Given the description of an element on the screen output the (x, y) to click on. 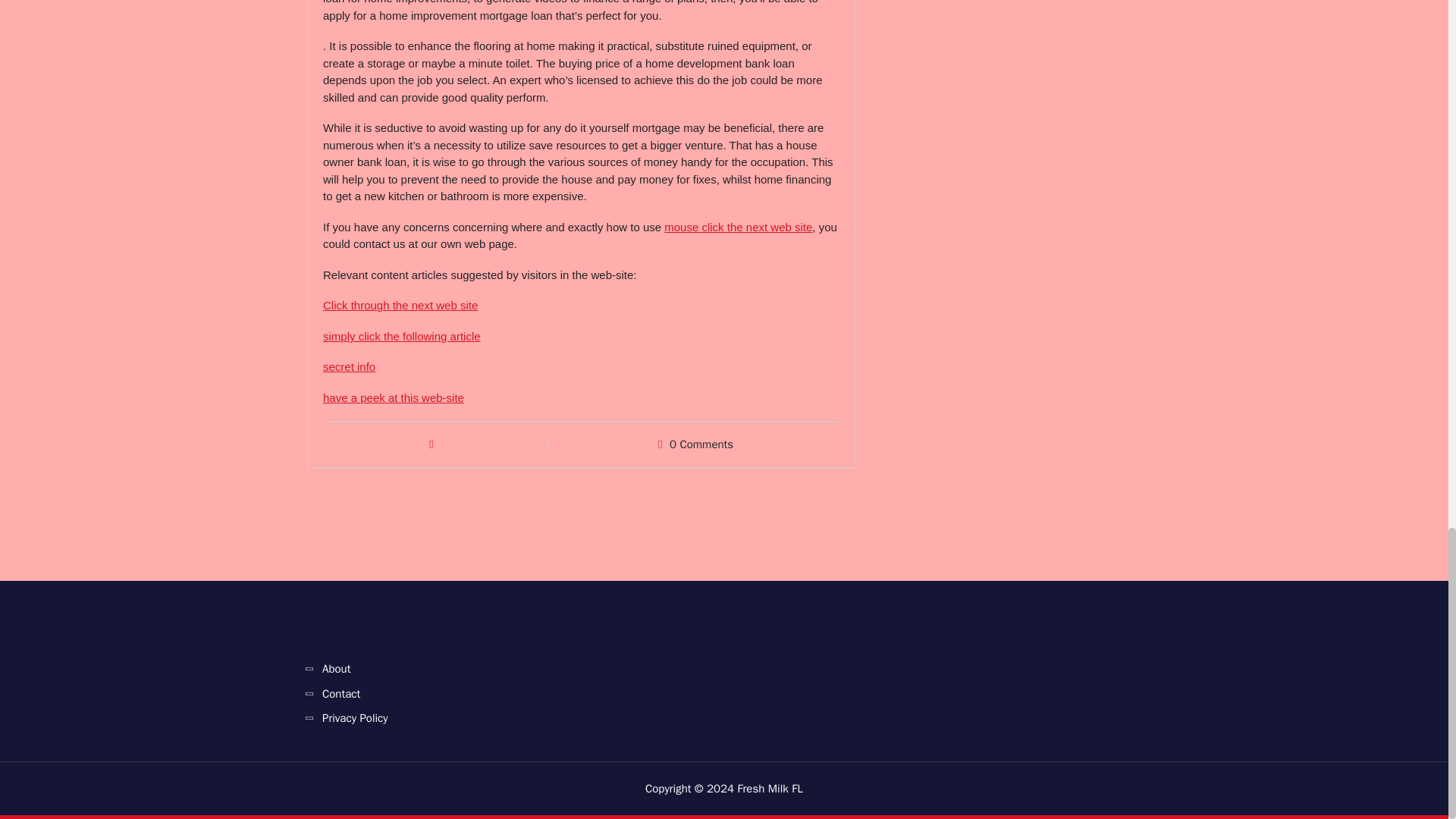
0 Comments (701, 444)
have a peek at this web-site (393, 397)
mouse click the next web site (737, 226)
Click through the next web site (400, 305)
simply click the following article (401, 336)
secret info (349, 366)
